Given the description of an element on the screen output the (x, y) to click on. 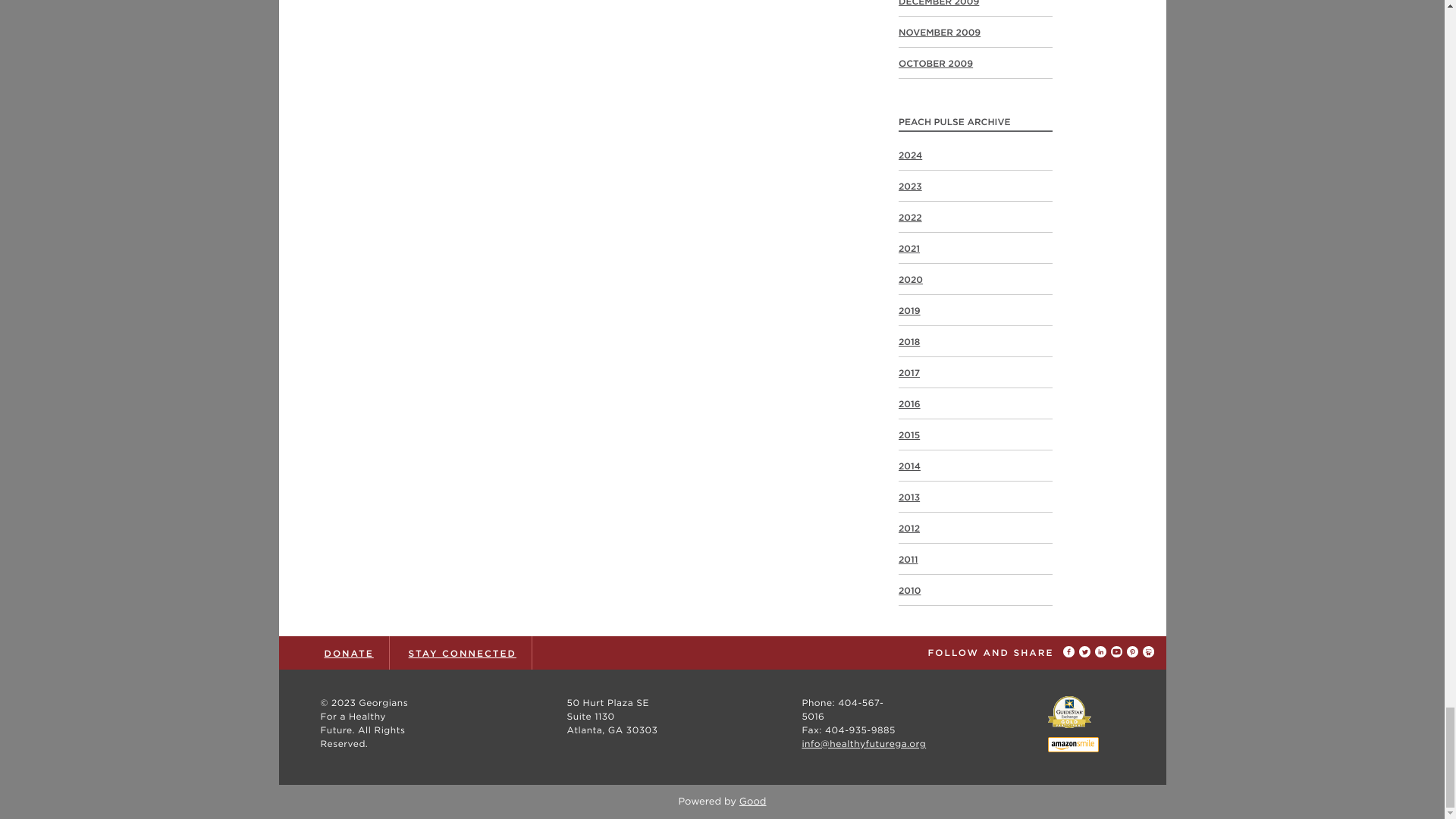
Good Agency - WordPress Agency for Nonprofits (753, 801)
Share on linkedin (1102, 652)
Share on pinterest (1134, 652)
Share on youtube (1117, 652)
Share on twitter (1086, 652)
Share on facebook (1070, 652)
